Given the description of an element on the screen output the (x, y) to click on. 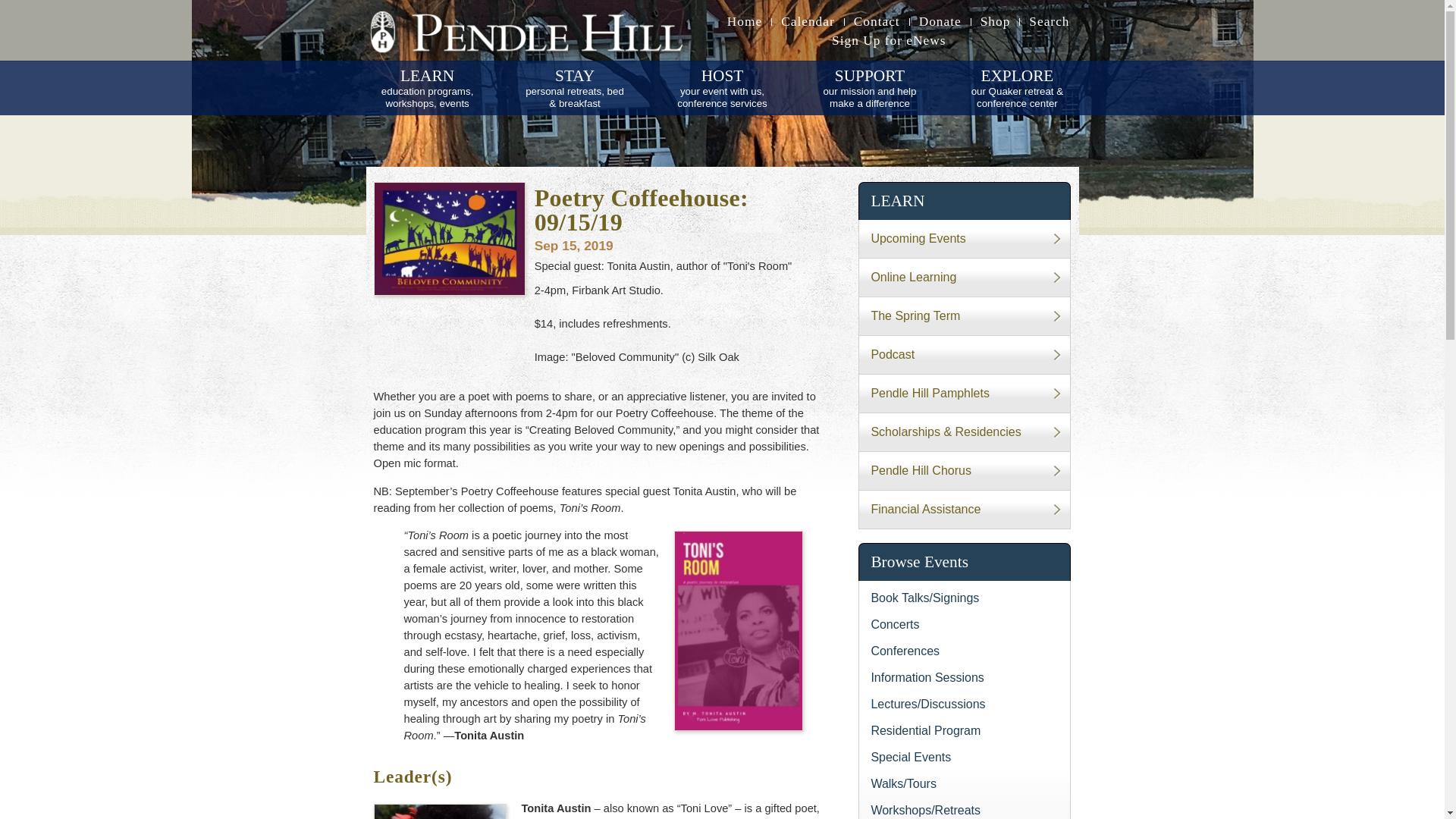
Contact (876, 21)
Home (744, 21)
Sign Up for eNews (888, 36)
Calendar (807, 21)
Tonita Austin (438, 811)
Donate (721, 87)
Search (940, 21)
Shop (1049, 21)
